Given the description of an element on the screen output the (x, y) to click on. 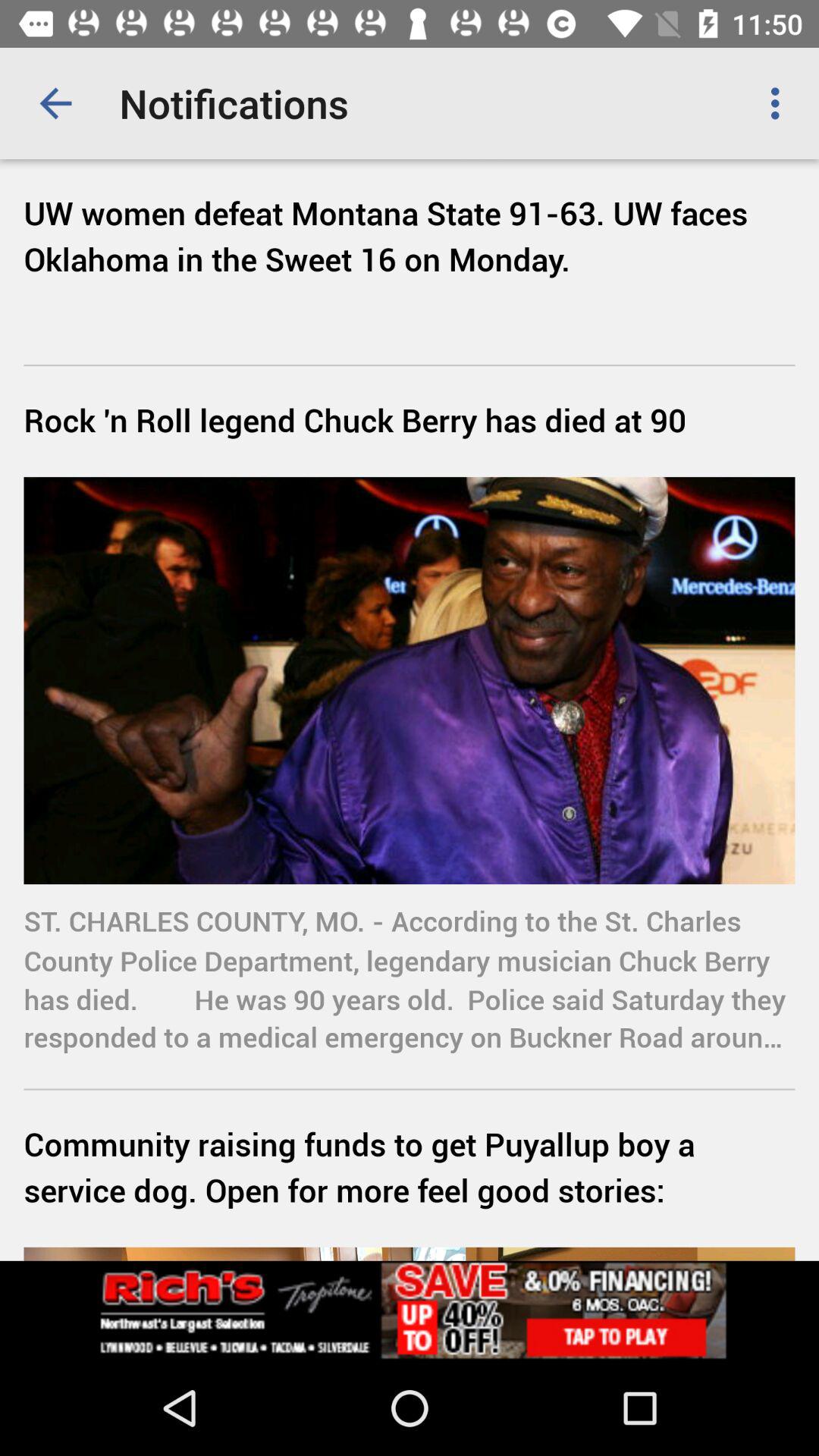
toggle advertisement (409, 1310)
